Given the description of an element on the screen output the (x, y) to click on. 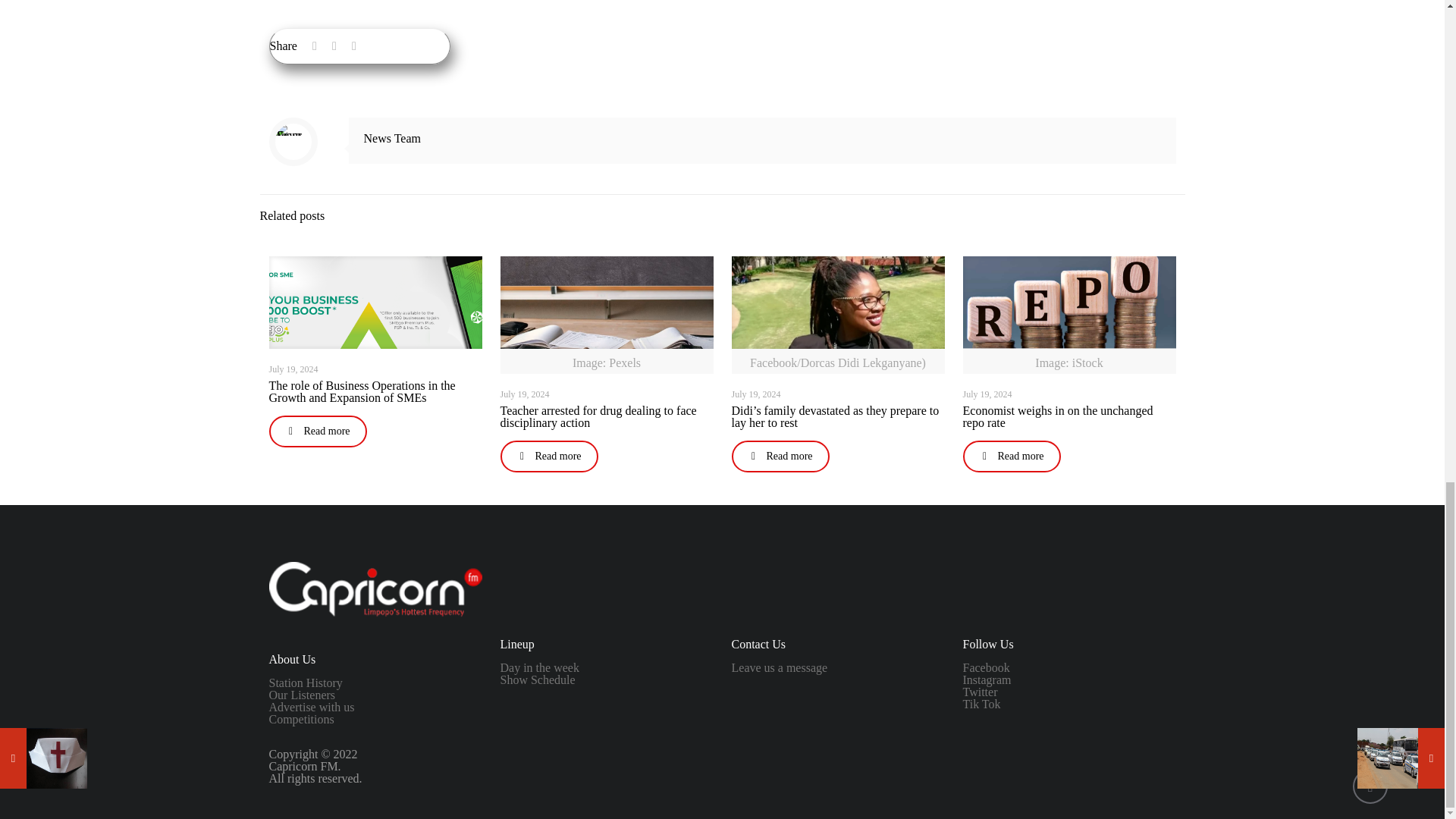
Read more (549, 456)
News Team (392, 137)
Read more (316, 431)
